Given the description of an element on the screen output the (x, y) to click on. 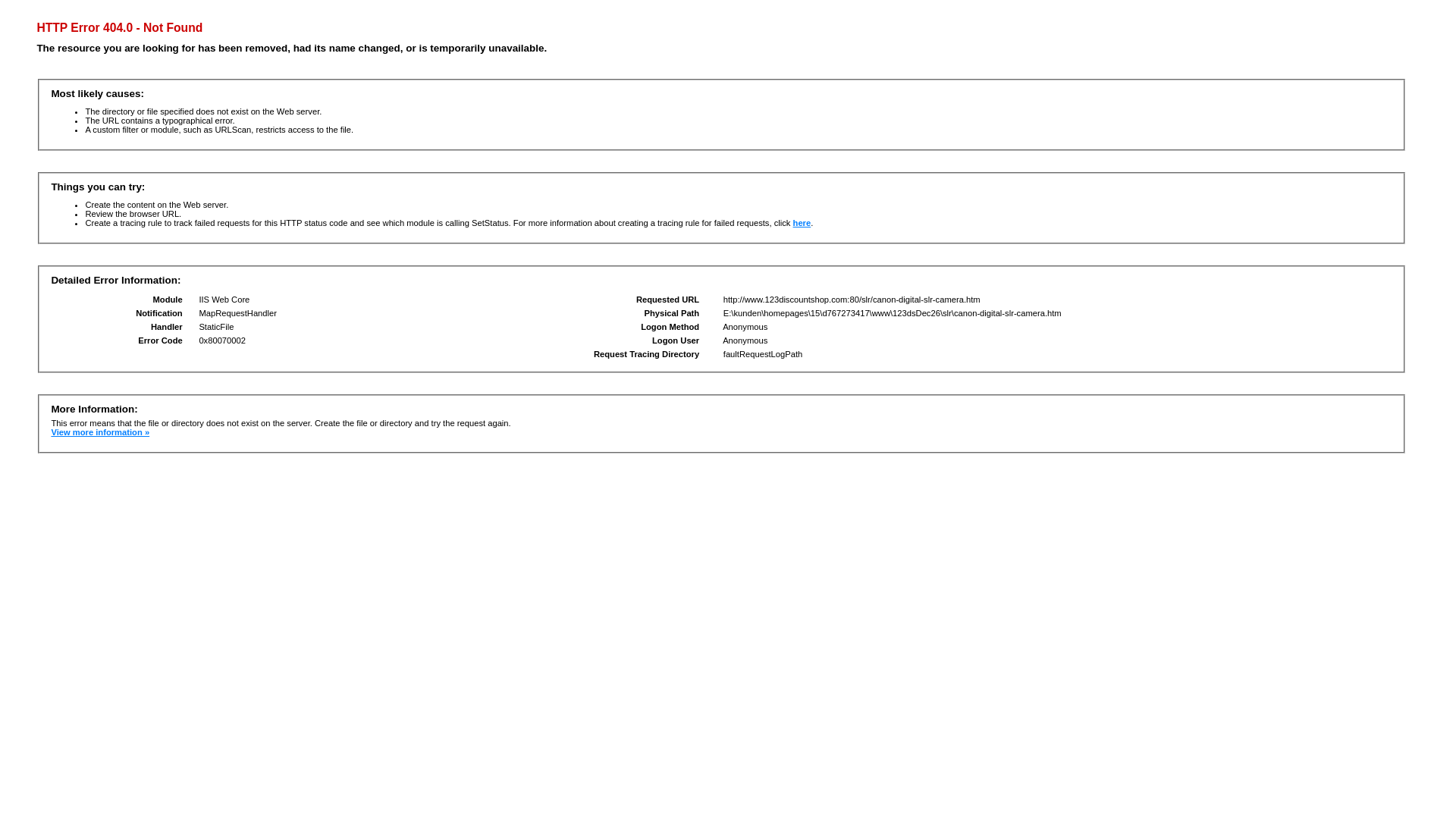
here Element type: text (802, 222)
